Given the description of an element on the screen output the (x, y) to click on. 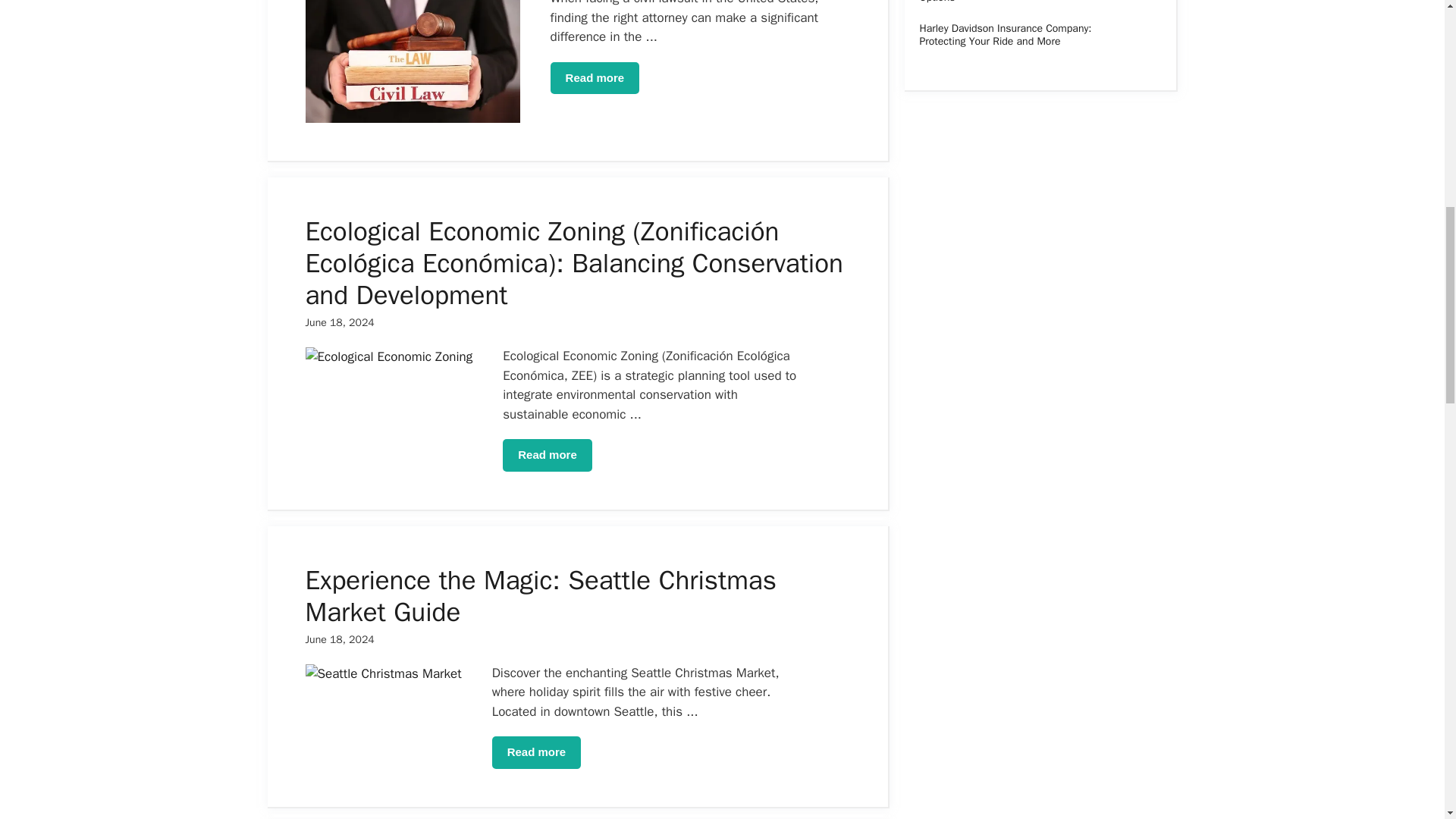
Read more (547, 454)
Read more (595, 78)
Read more (536, 752)
Experience the Magic: Seattle Christmas Market Guide (540, 595)
